Given the description of an element on the screen output the (x, y) to click on. 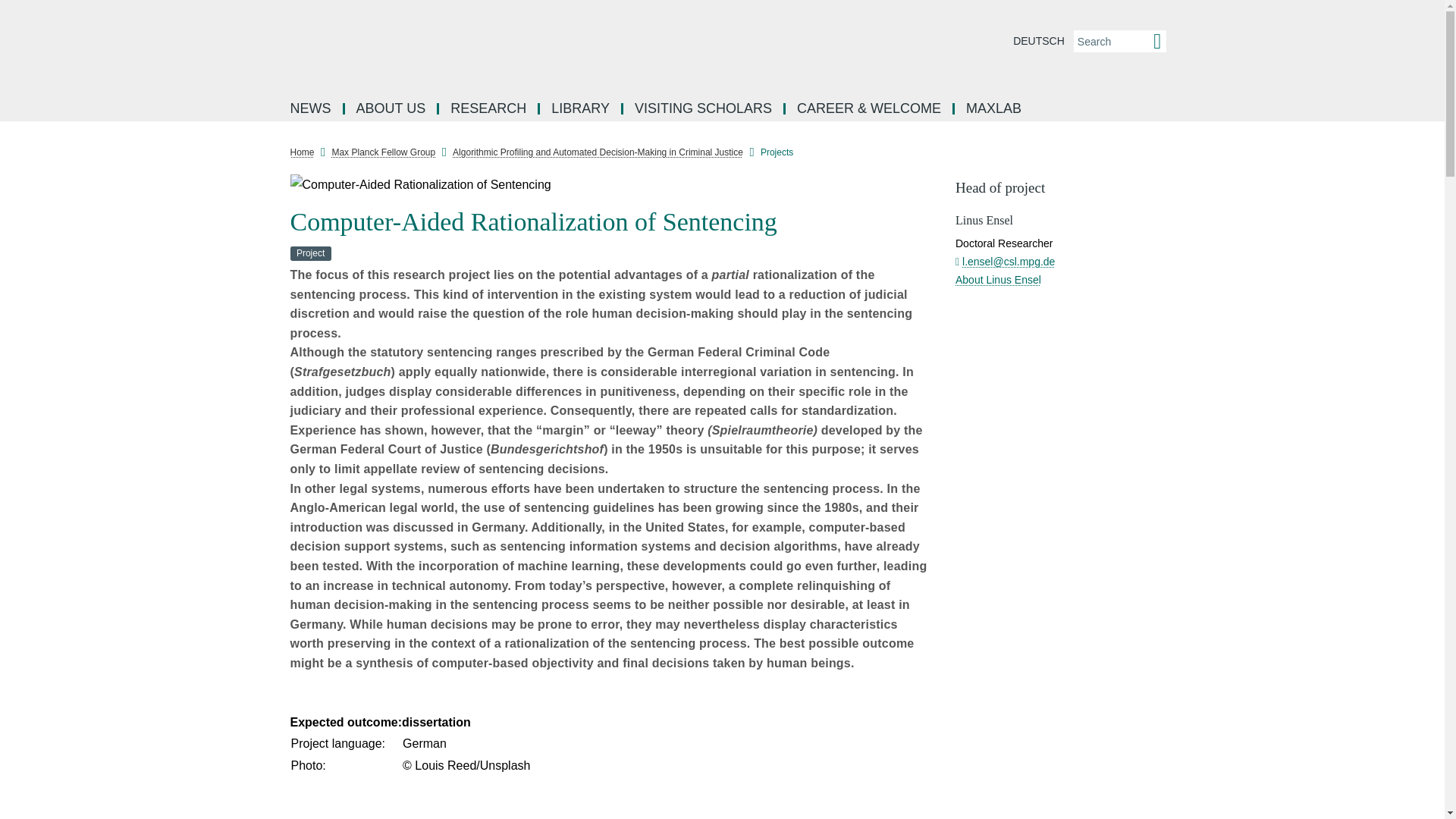
Twitter (258, 287)
Computer-Aided Rationalization of Sentencing (611, 184)
LinkedIn (258, 219)
Xing (258, 321)
RESEARCH (489, 108)
NEWS (312, 108)
Print (258, 389)
Facebook (258, 184)
E-Mail (258, 354)
ABOUT US (391, 108)
